Given the description of an element on the screen output the (x, y) to click on. 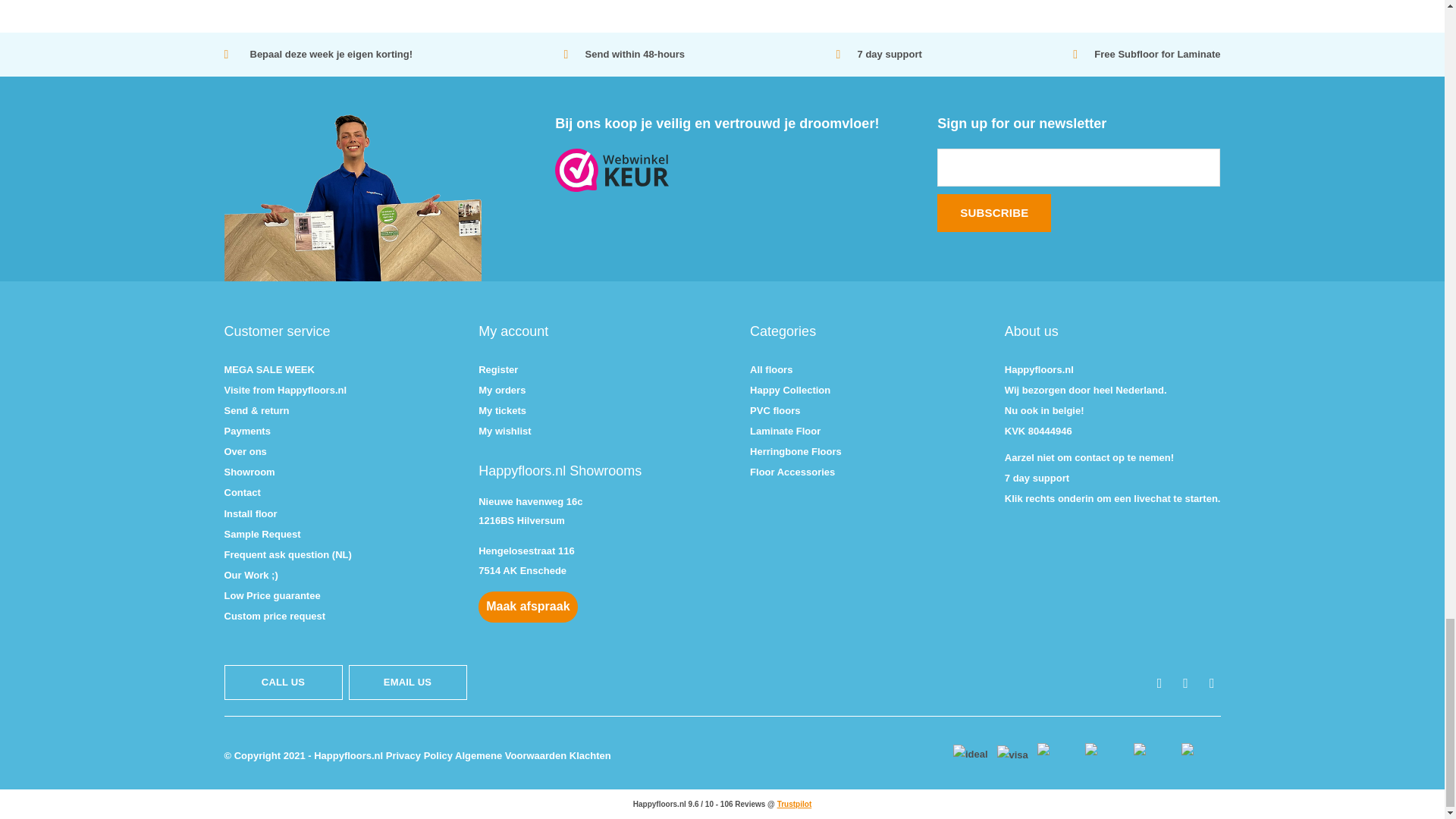
Webwinkelkeur merk Happyfloors.nl (721, 169)
My tickets (502, 410)
My orders (502, 389)
My wishlist (505, 430)
Register (498, 369)
